Given the description of an element on the screen output the (x, y) to click on. 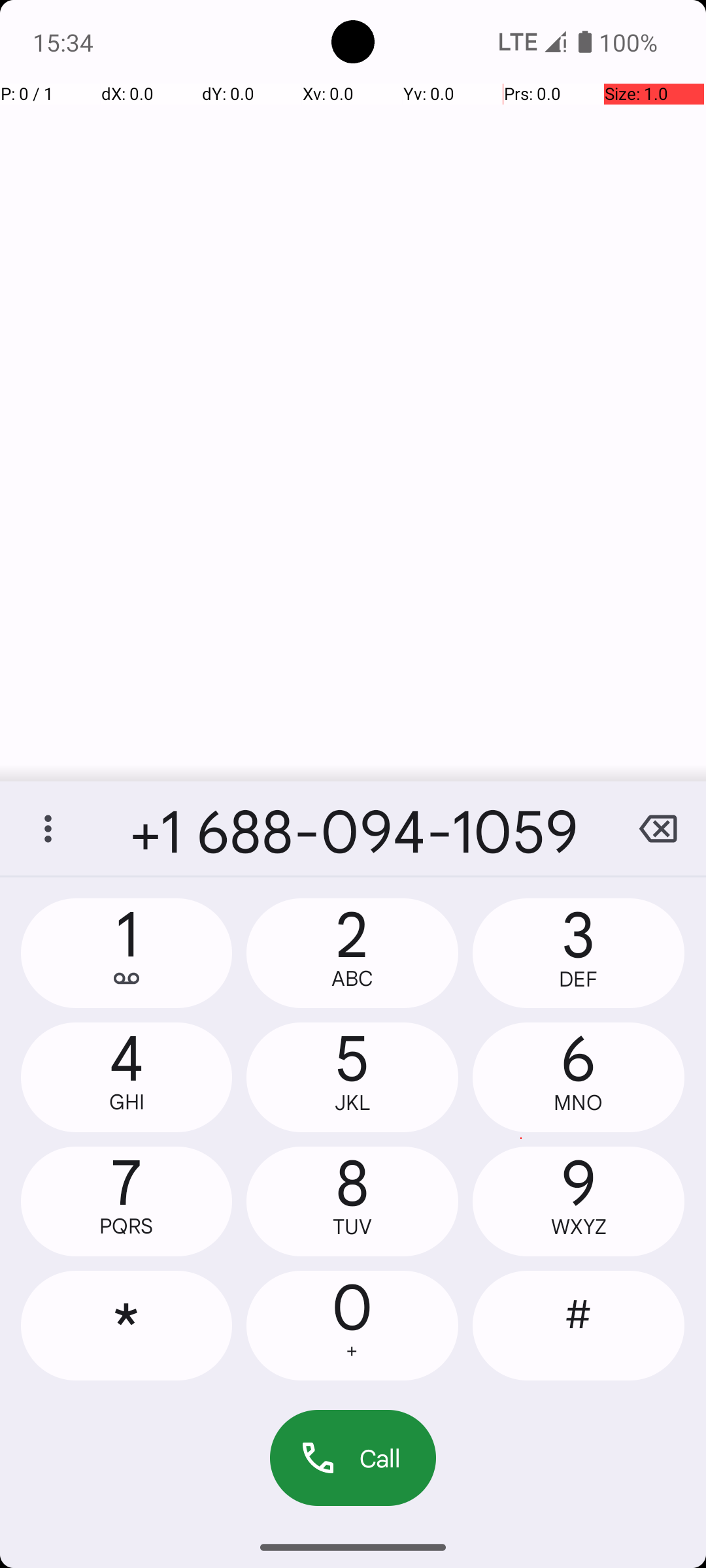
+1 688-094-1059 Element type: android.widget.EditText (352, 828)
